Given the description of an element on the screen output the (x, y) to click on. 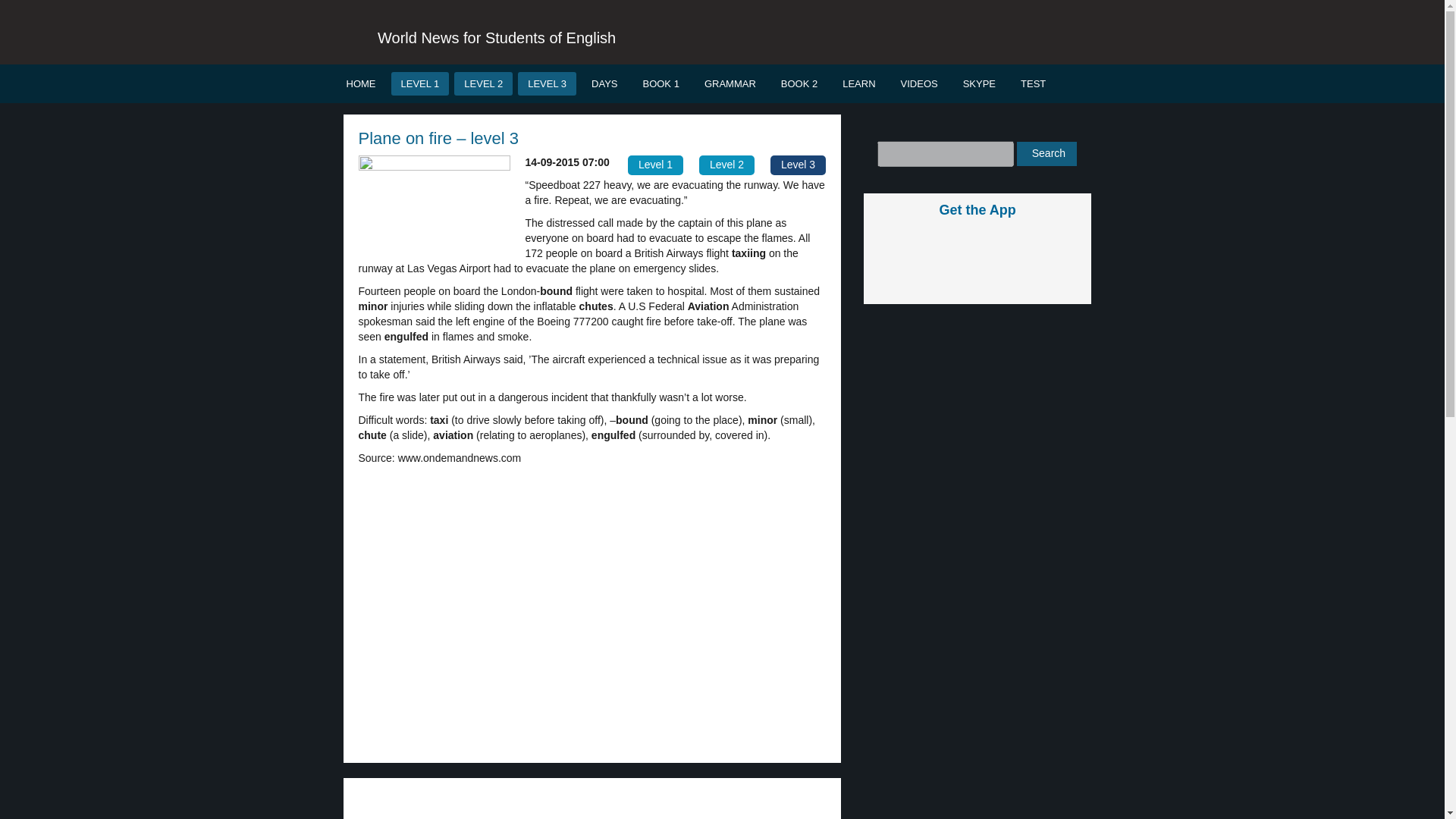
TEST (1032, 83)
HOME (360, 83)
LEARN (858, 83)
VIDEOS (919, 83)
SKYPE (979, 83)
LEVEL 2 (483, 83)
BOOK 1 (659, 83)
Search (1046, 153)
LEVEL 3 (547, 83)
Level 1 (654, 165)
